Given the description of an element on the screen output the (x, y) to click on. 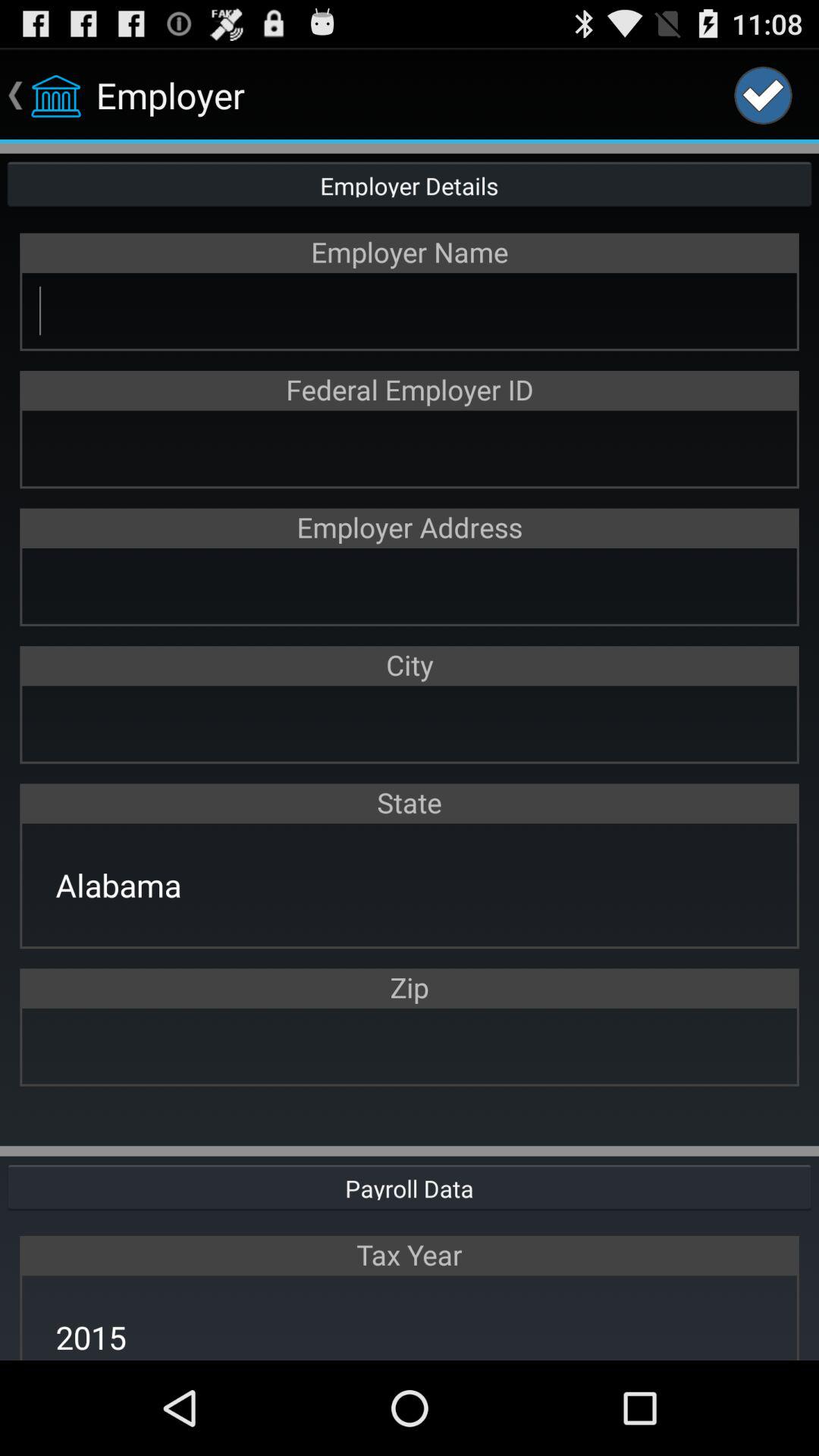
choose app above the tax year icon (409, 1185)
